Given the description of an element on the screen output the (x, y) to click on. 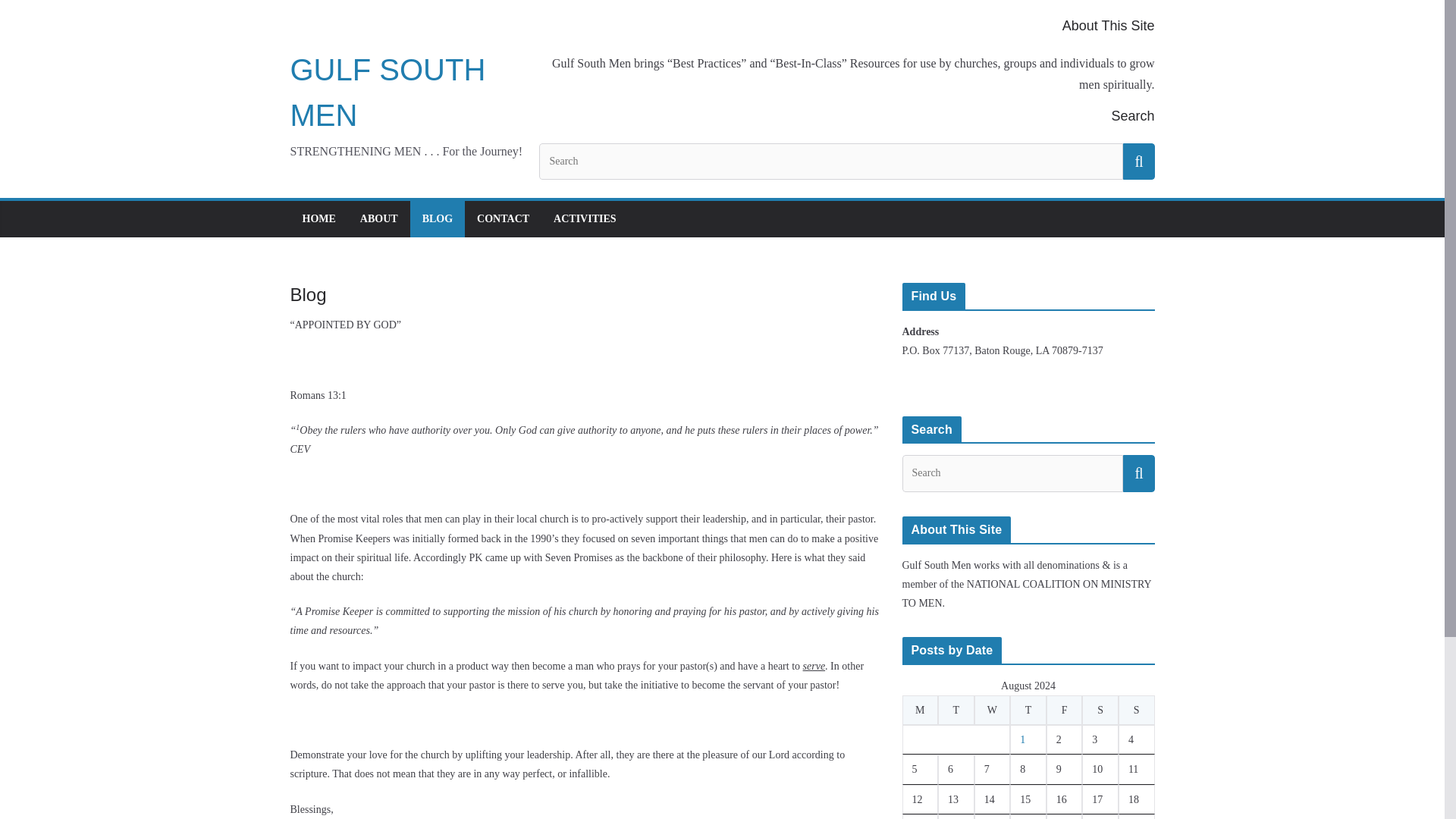
HOME (317, 219)
GULF SOUTH MEN (386, 92)
Wednesday (992, 709)
Saturday (1099, 709)
GULF SOUTH MEN (386, 92)
BLOG (437, 219)
Friday (1064, 709)
Monday (920, 709)
ABOUT (378, 219)
Sunday (1136, 709)
